Given the description of an element on the screen output the (x, y) to click on. 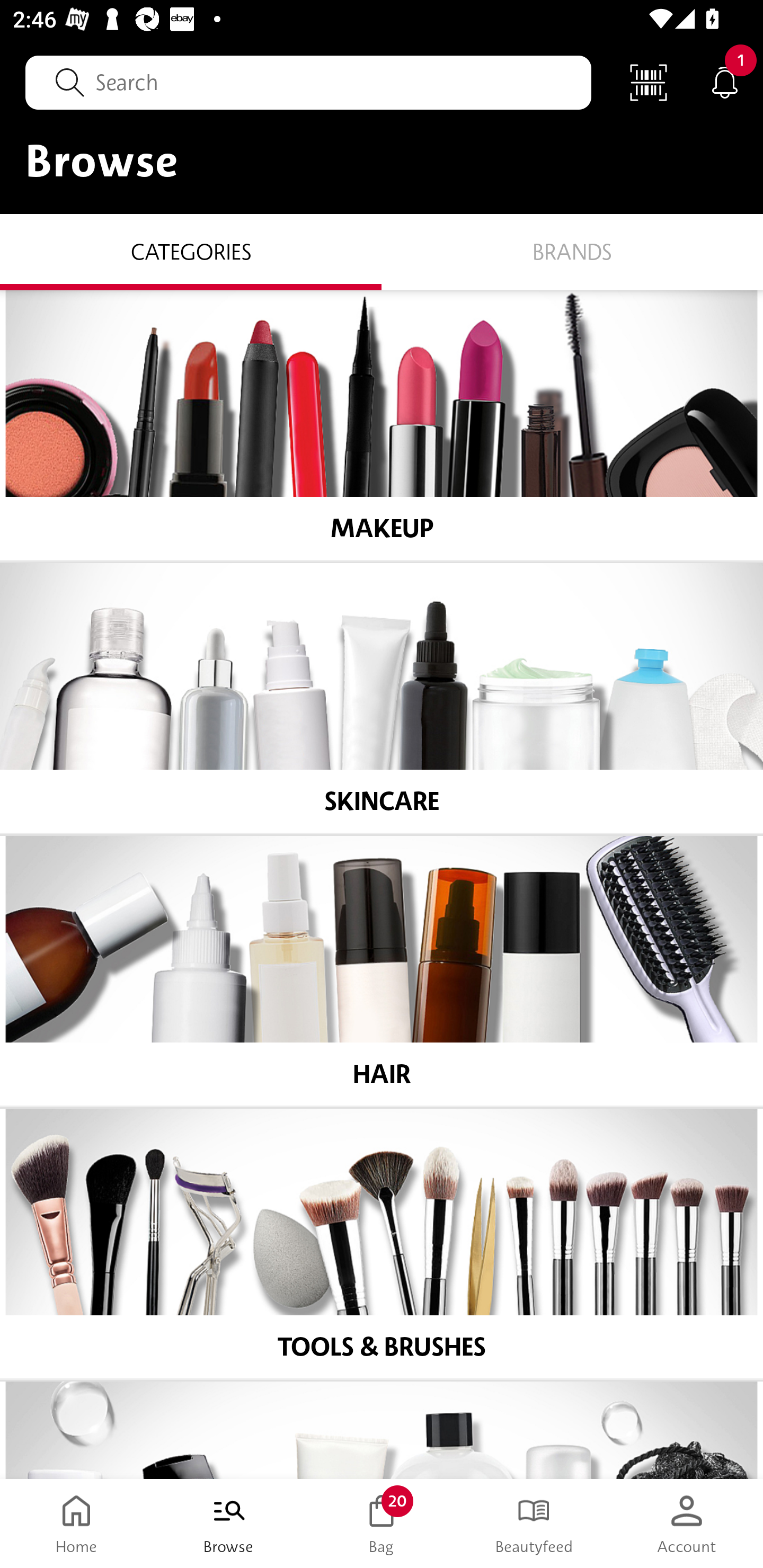
Scan Code (648, 81)
Notifications (724, 81)
Search (308, 81)
Brands BRANDS (572, 251)
MAKEUP (381, 425)
SKINCARE (381, 698)
HAIR (381, 971)
TOOLS & BRUSHES (381, 1243)
Home (76, 1523)
Bag 20 Bag (381, 1523)
Beautyfeed (533, 1523)
Account (686, 1523)
